Given the description of an element on the screen output the (x, y) to click on. 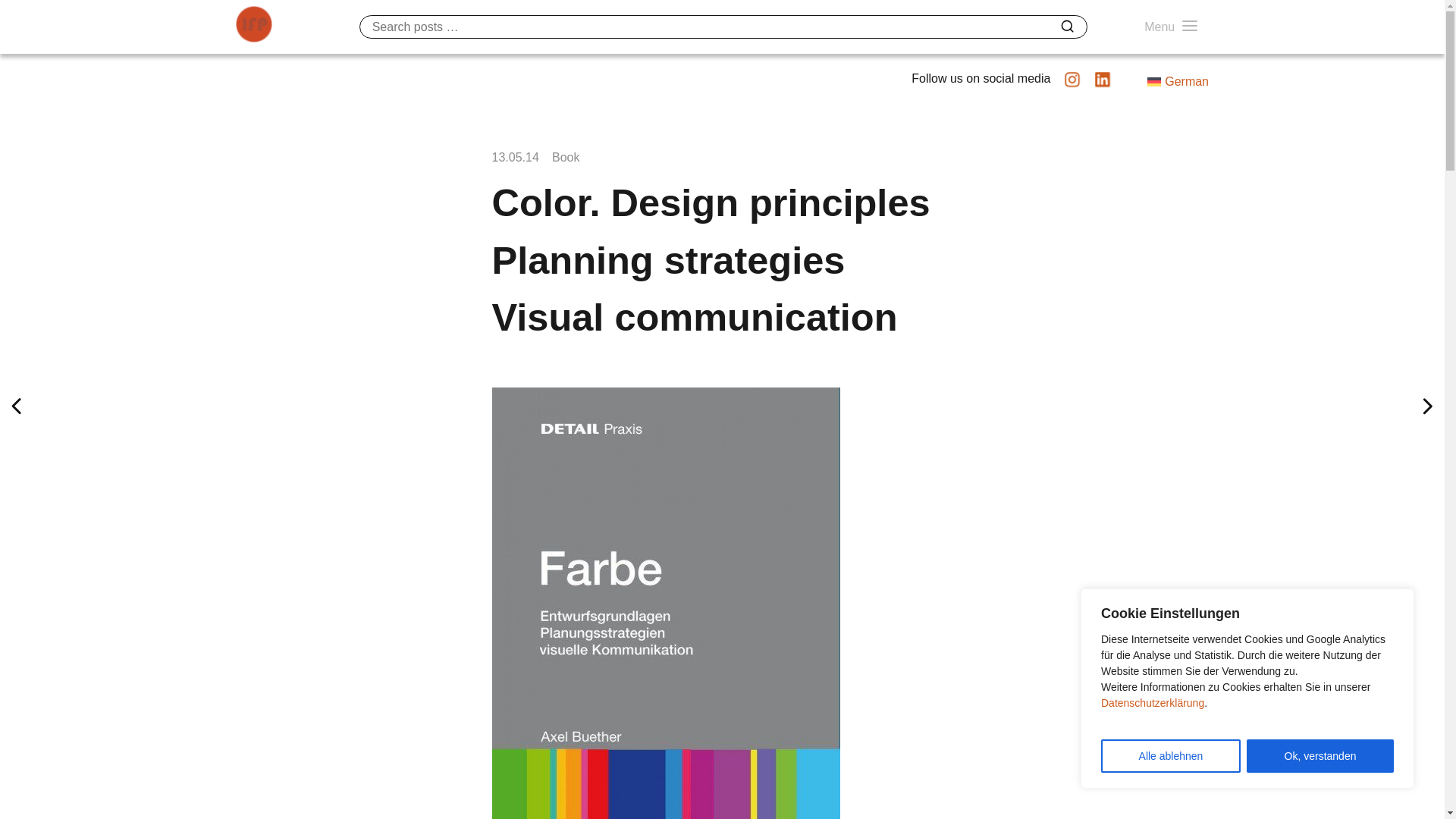
German (1177, 81)
German (1177, 81)
Alle ablehnen (1170, 756)
Instagram (1071, 84)
Menu (1171, 27)
LinkedIn (1102, 84)
Ok, verstanden (1319, 756)
